Given the description of an element on the screen output the (x, y) to click on. 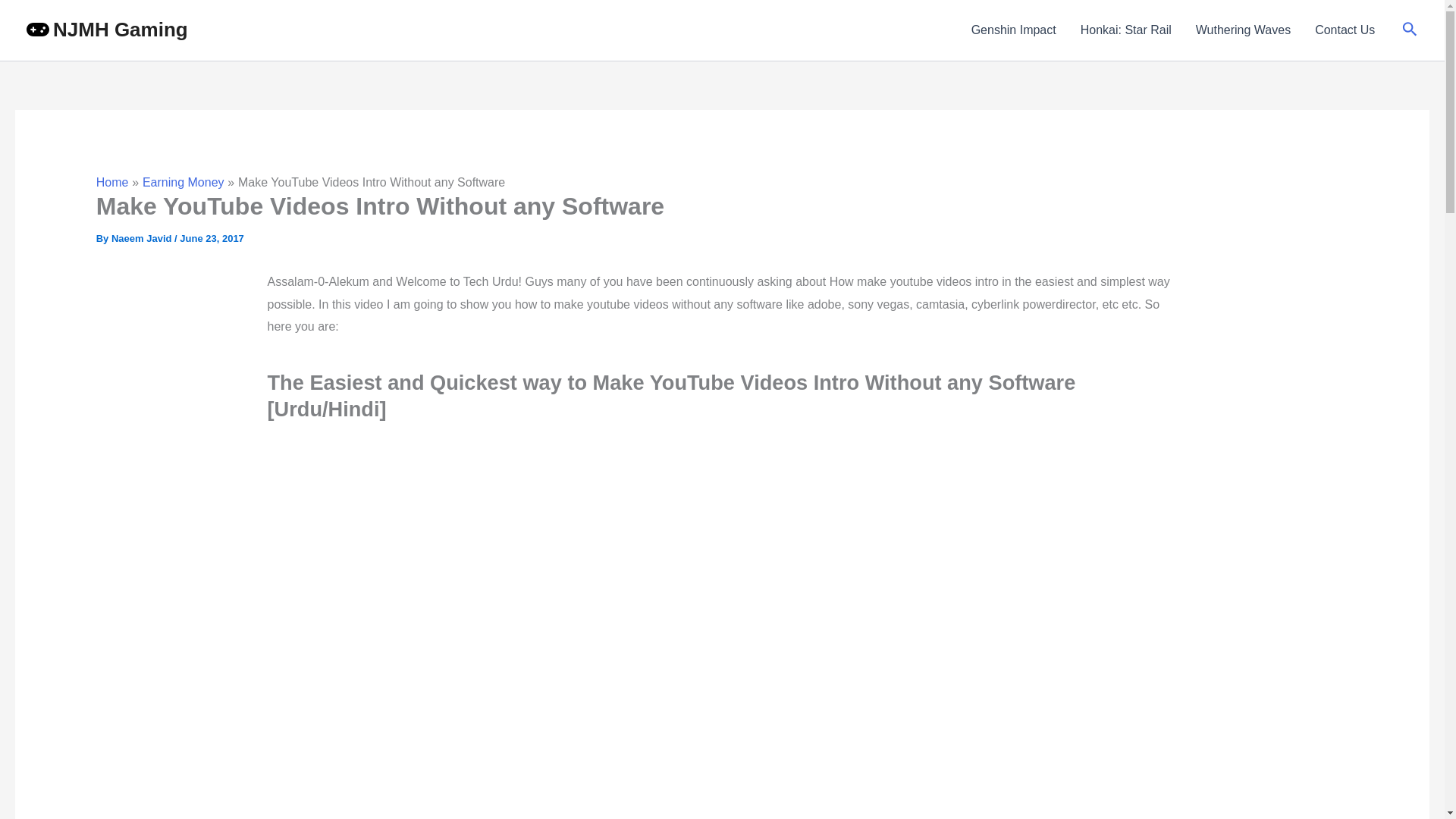
Earning Money (183, 182)
Contact Us (1345, 30)
Wuthering Waves (1243, 30)
Home (112, 182)
View all posts by Naeem Javid (143, 238)
NJMH Gaming (119, 29)
Genshin Impact (1013, 30)
Honkai: Star Rail (1125, 30)
Naeem Javid (143, 238)
